Given the description of an element on the screen output the (x, y) to click on. 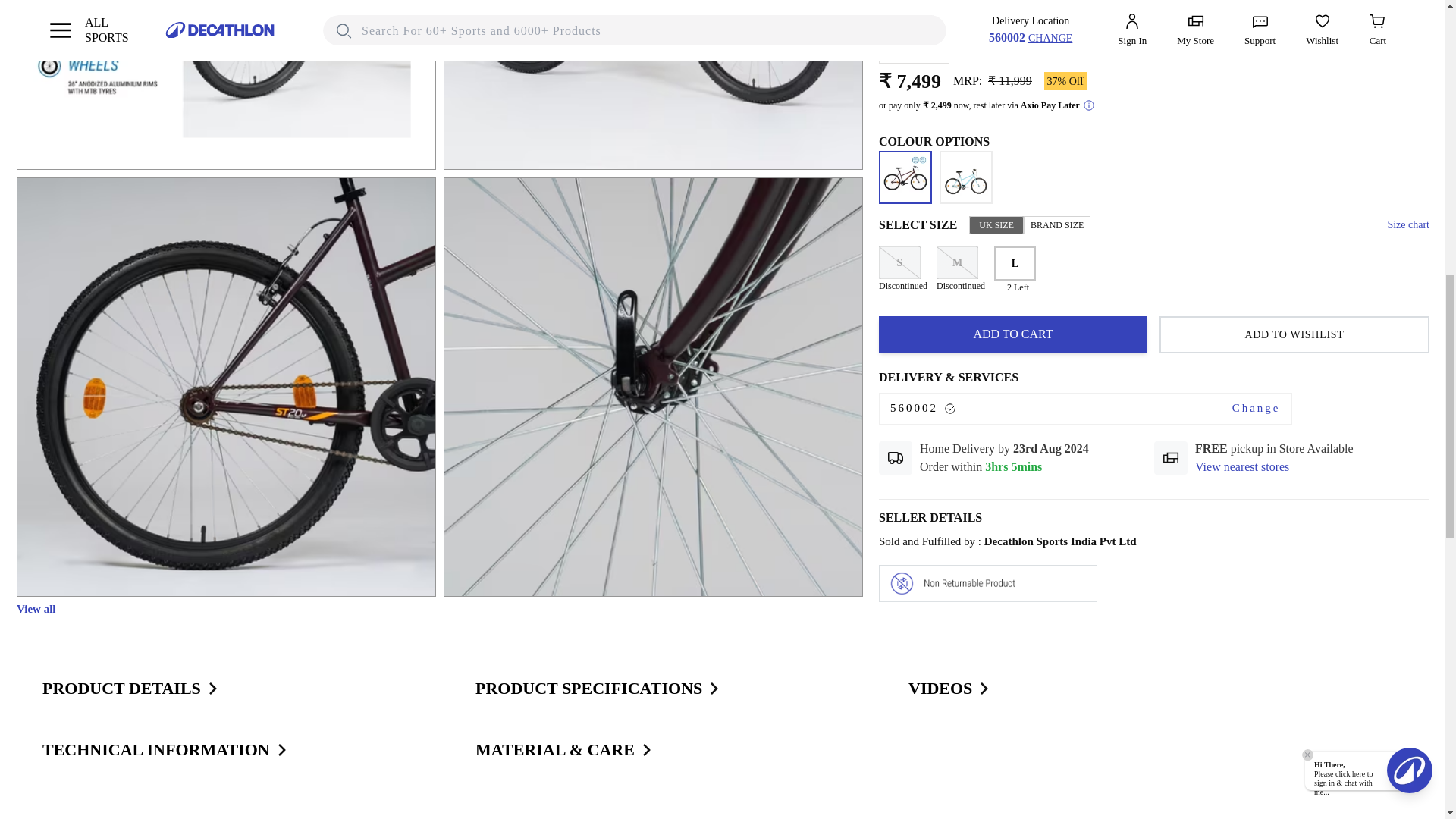
TECHNICAL INFORMATION (165, 749)
TECHNICAL INFORMATION (165, 749)
VIDEOS (948, 688)
PRODUCT SPECIFICATIONS (597, 688)
PRODUCT DETAILS (130, 688)
PRODUCT DETAILS (130, 688)
VIDEOS (948, 688)
PRODUCT SPECIFICATIONS (597, 688)
